Given the description of an element on the screen output the (x, y) to click on. 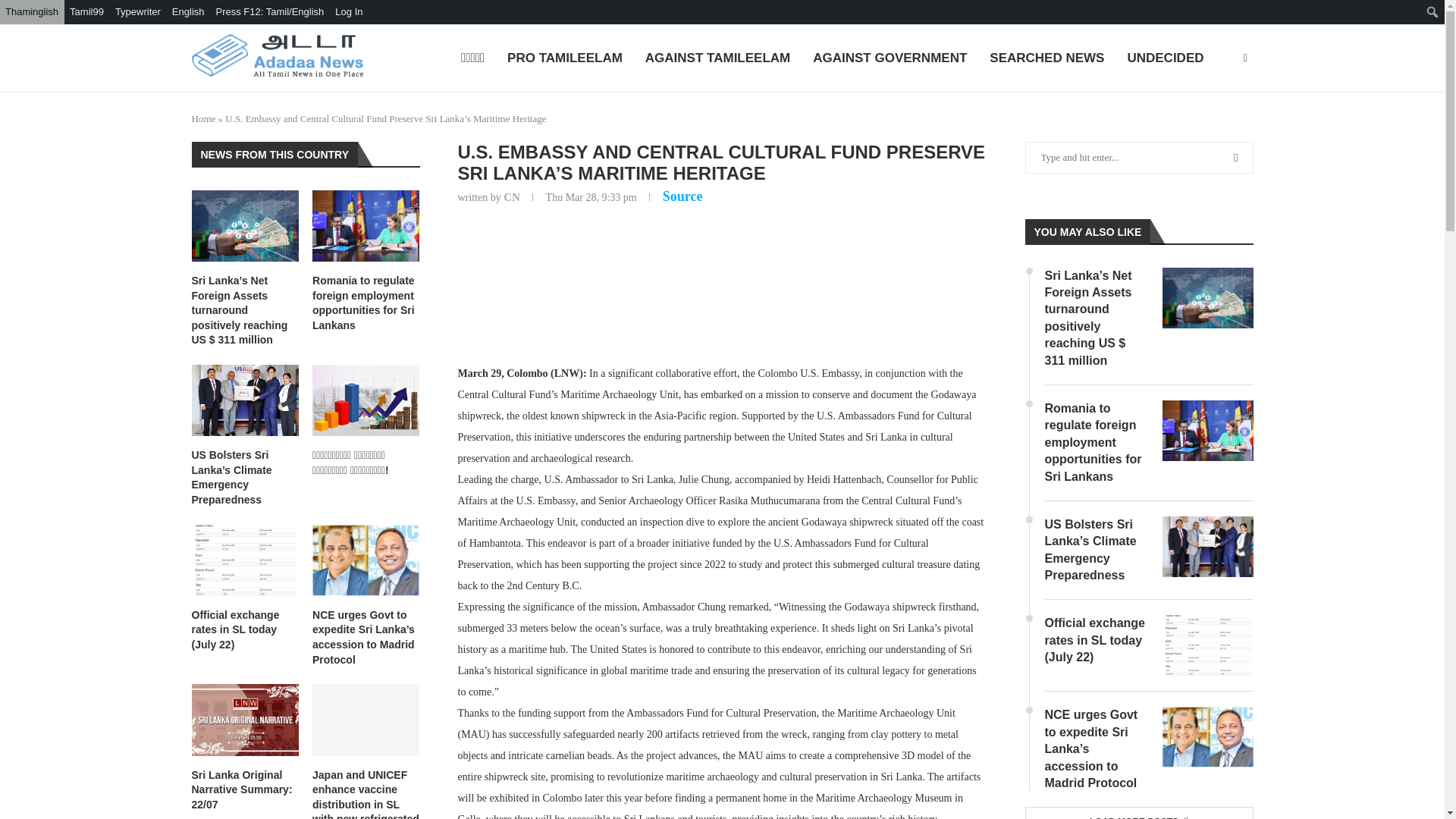
CN (511, 196)
Click to select English keyboard (189, 12)
Source (682, 196)
Typewriter (138, 12)
PRO TAMILEELAM (564, 58)
Read original story (682, 196)
Click to select Thaminglish keyboard (32, 12)
Thaminglish (32, 12)
AGAINST GOVERNMENT (889, 58)
Search (114, 15)
Click to select Tamil99 keyboard (87, 12)
SEARCHED NEWS (1046, 58)
Log In (349, 12)
AGAINST TAMILEELAM (717, 58)
